Given the description of an element on the screen output the (x, y) to click on. 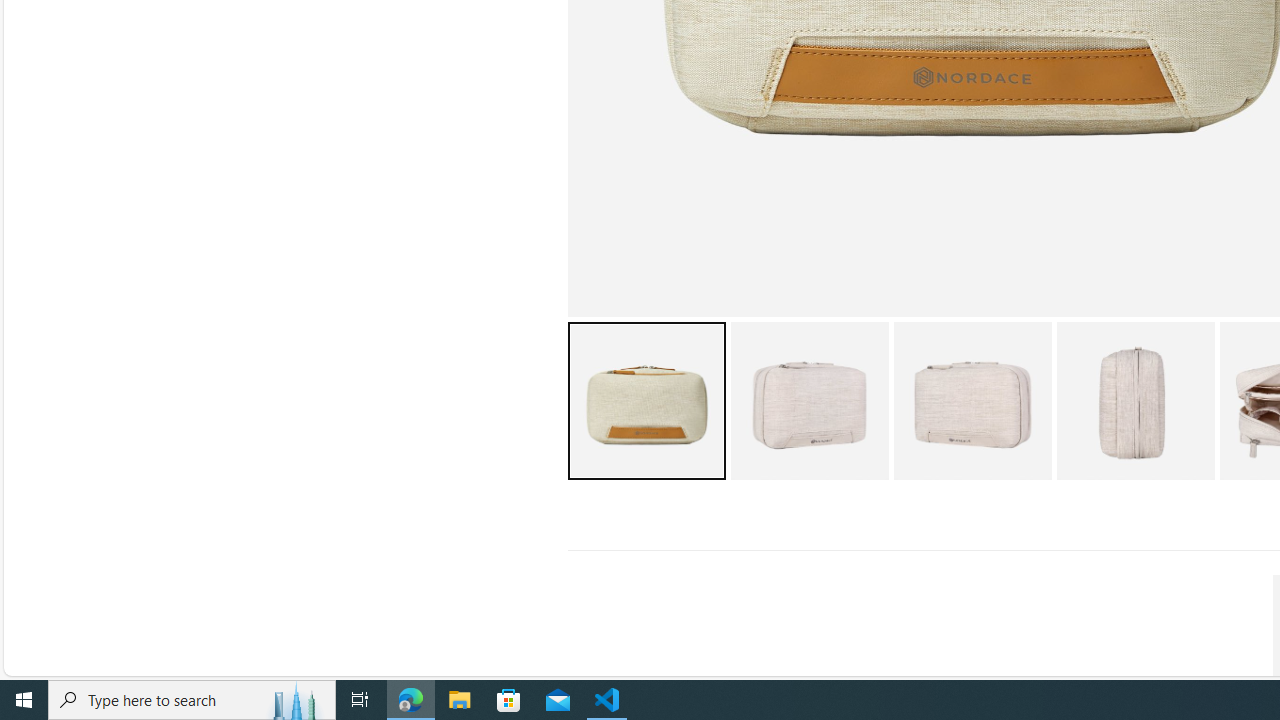
Trousse de Toilette Nordace Siena Pro (1135, 400)
